Given the description of an element on the screen output the (x, y) to click on. 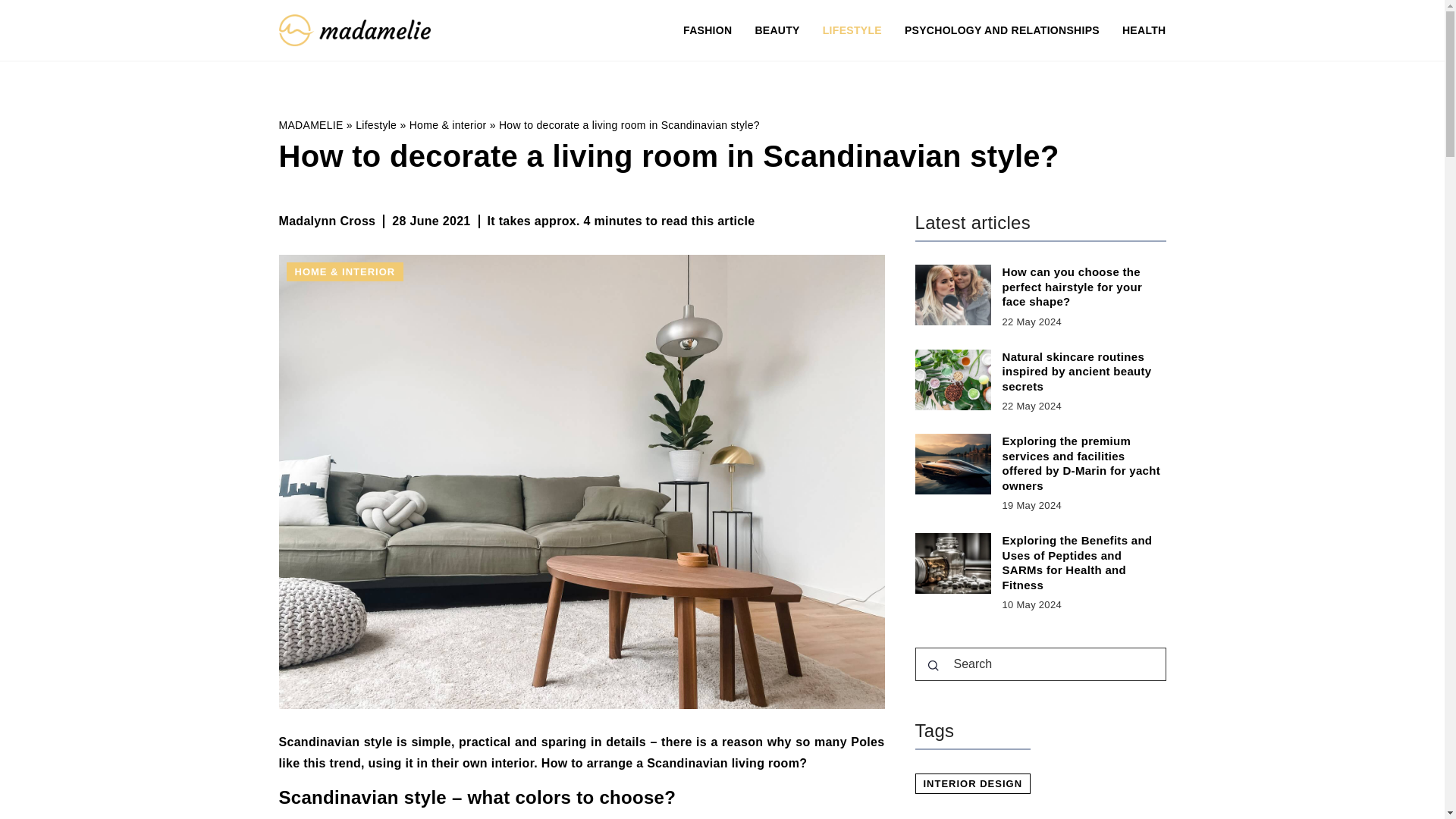
Natural skincare routines inspired by ancient beauty secrets (1084, 371)
HEALTH (1144, 29)
LIFESTYLE (852, 29)
FASHION (707, 29)
PSYCHOLOGY AND RELATIONSHIPS (1001, 29)
BEAUTY (776, 29)
INTERIOR DESIGN (972, 783)
Madalynn Cross (327, 220)
